Given the description of an element on the screen output the (x, y) to click on. 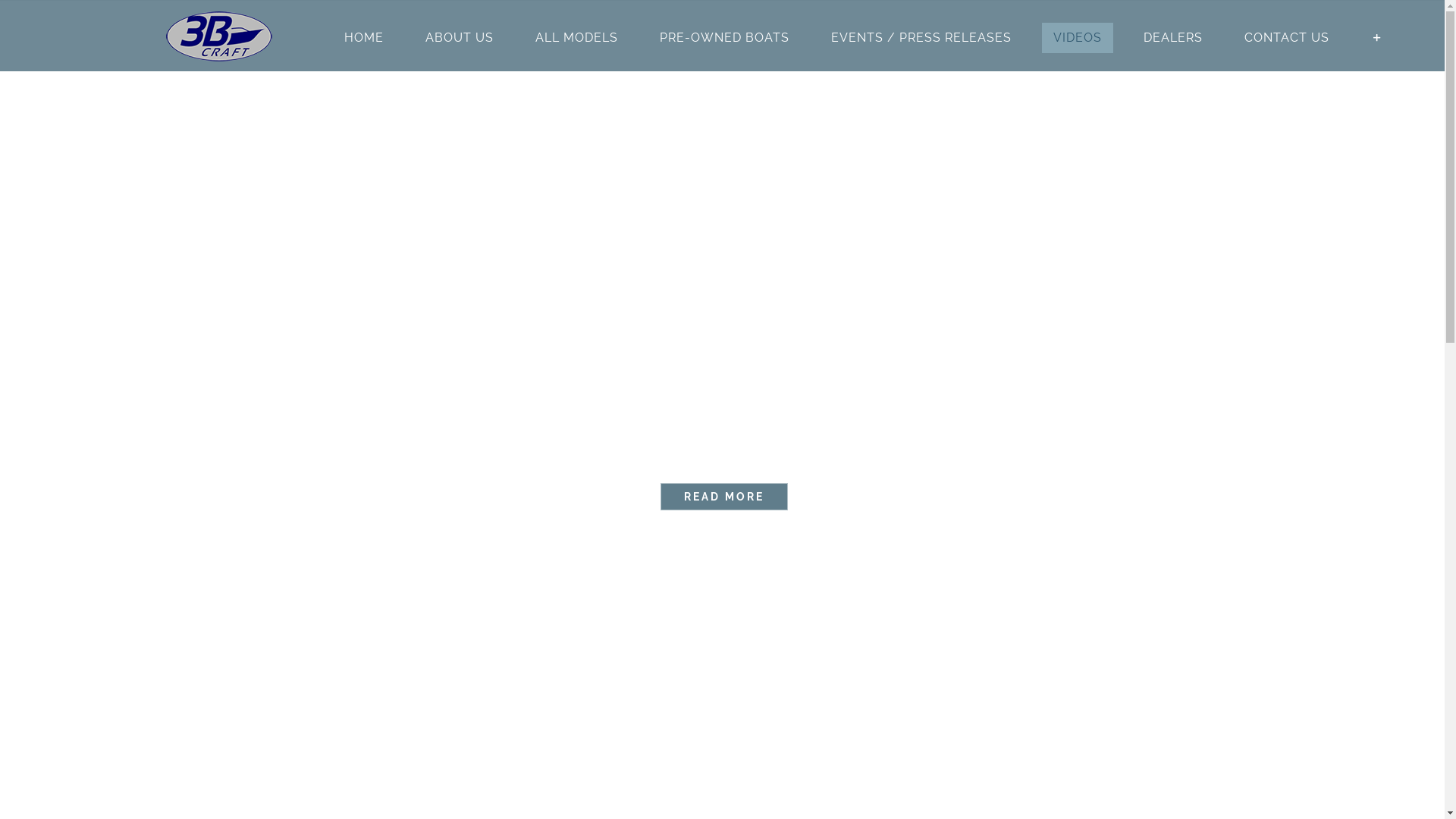
ALL MODELS Element type: text (576, 37)
PRE-OWNED BOATS Element type: text (724, 37)
VIDEOS Element type: text (1077, 37)
ABOUT US Element type: text (459, 37)
CONTACT US Element type: text (1286, 37)
Toggle Sliding Bar Element type: hover (1377, 37)
HOME Element type: text (363, 37)
EVENTS / PRESS RELEASES Element type: text (920, 37)
DEALERS Element type: text (1173, 37)
